Given the description of an element on the screen output the (x, y) to click on. 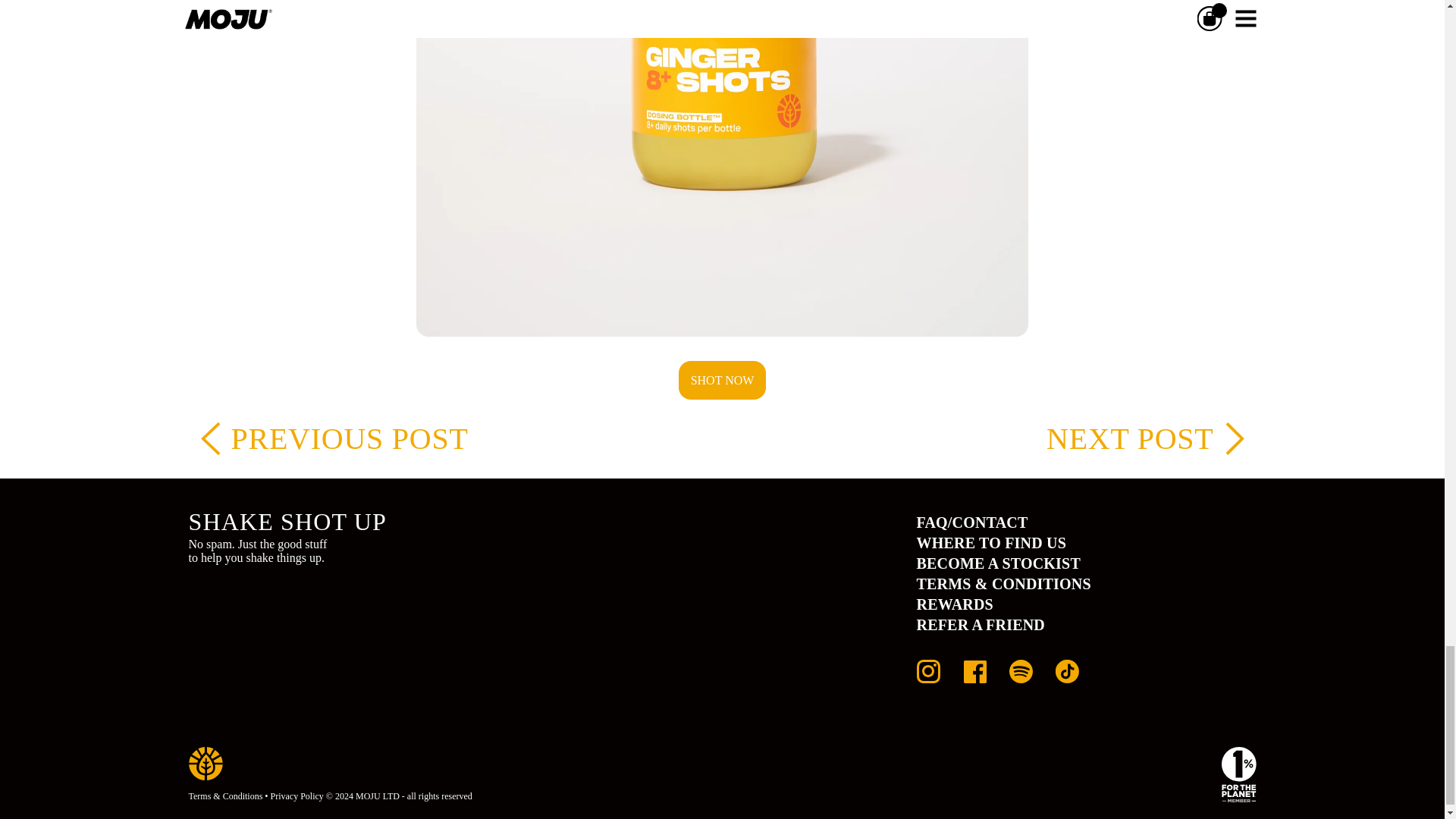
MOJU on Facebook, (974, 677)
MOJU on Instagram (927, 677)
